Given the description of an element on the screen output the (x, y) to click on. 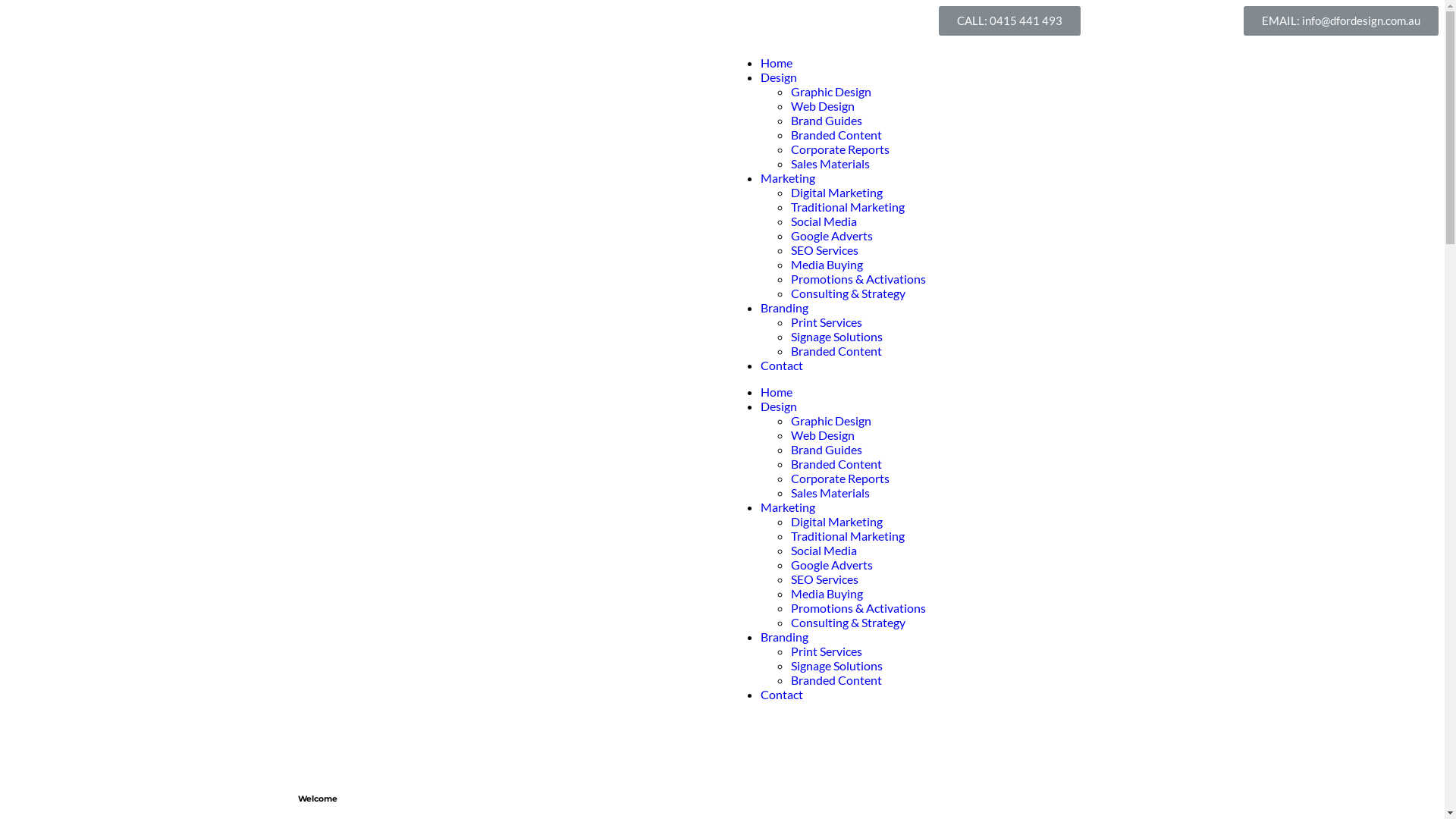
Media Buying Element type: text (826, 593)
Traditional Marketing Element type: text (846, 535)
SEO Services Element type: text (823, 249)
Signage Solutions Element type: text (835, 665)
Consulting & Strategy Element type: text (847, 622)
Brand Guides Element type: text (825, 449)
Web Design Element type: text (821, 105)
Social Media Element type: text (823, 220)
Graphic Design Element type: text (830, 420)
Branded Content Element type: text (835, 350)
Promotions & Activations Element type: text (857, 607)
Contact Element type: text (780, 694)
Consulting & Strategy Element type: text (847, 292)
Branding Element type: text (783, 636)
Print Services Element type: text (825, 650)
CALL: 0415 441 493 Element type: text (1009, 20)
Home Element type: text (775, 391)
Web Design Element type: text (821, 434)
Signage Solutions Element type: text (835, 336)
Digital Marketing Element type: text (835, 521)
Sales Materials Element type: text (829, 163)
Sales Materials Element type: text (829, 492)
Design Element type: text (777, 405)
Contact Element type: text (780, 364)
EMAIL: info@dfordesign.com.au Element type: text (1340, 20)
Marketing Element type: text (786, 506)
SEO Services Element type: text (823, 578)
Home Element type: text (775, 62)
Branded Content Element type: text (835, 463)
Marketing Element type: text (786, 177)
Google Adverts Element type: text (831, 235)
Branded Content Element type: text (835, 134)
Branding Element type: text (783, 307)
Promotions & Activations Element type: text (857, 278)
Digital Marketing Element type: text (835, 192)
Social Media Element type: text (823, 549)
Google Adverts Element type: text (831, 564)
Traditional Marketing Element type: text (846, 206)
Branded Content Element type: text (835, 679)
Corporate Reports Element type: text (839, 477)
Brand Guides Element type: text (825, 119)
Graphic Design Element type: text (830, 91)
Design Element type: text (777, 76)
Print Services Element type: text (825, 321)
Corporate Reports Element type: text (839, 148)
Media Buying Element type: text (826, 264)
